Given the description of an element on the screen output the (x, y) to click on. 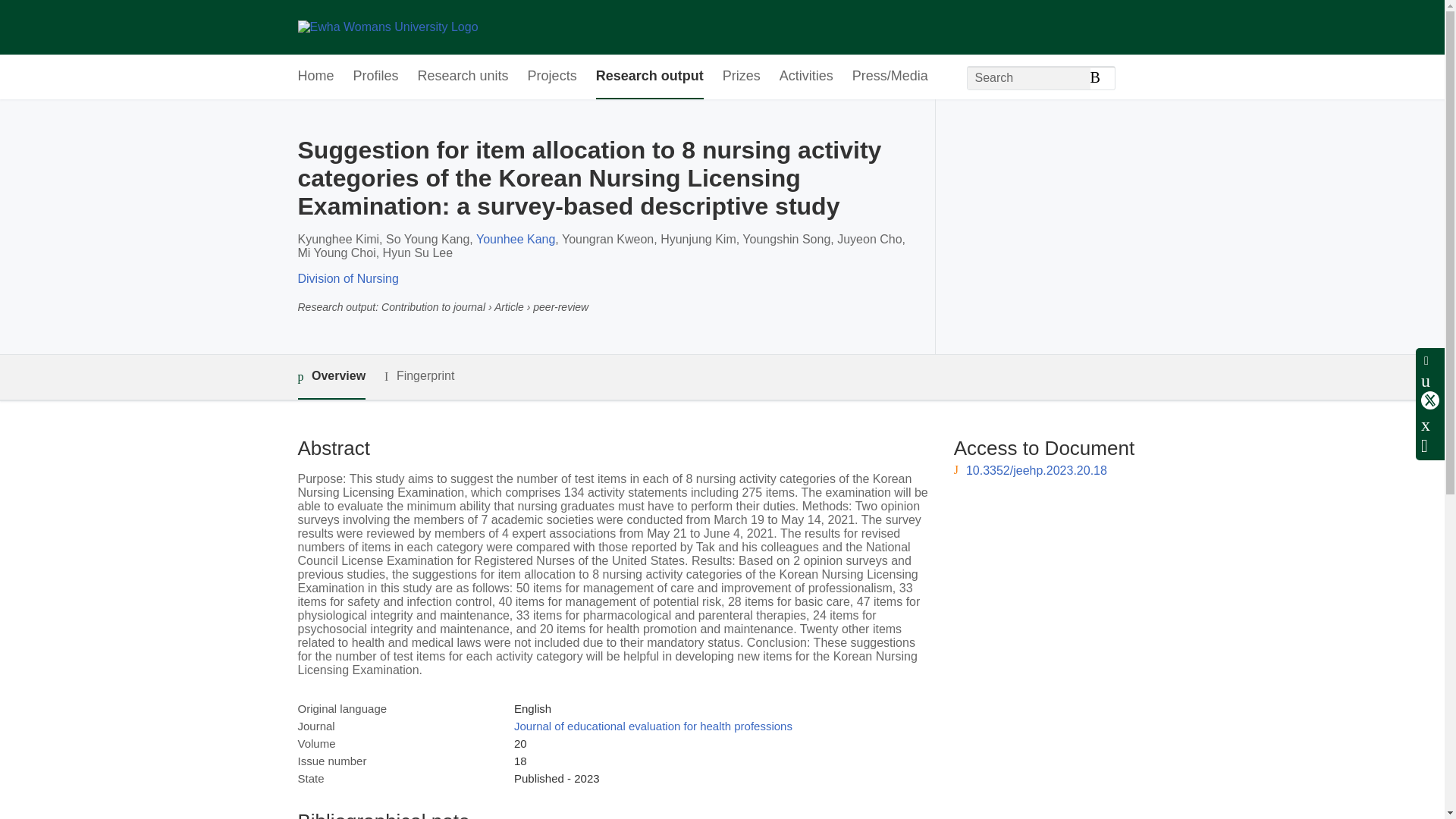
Ewha Womans University Home (387, 27)
Fingerprint (419, 376)
Overview (331, 376)
Division of Nursing (347, 278)
Profiles (375, 76)
Projects (551, 76)
Younhee Kang (515, 238)
Journal of educational evaluation for health professions (652, 725)
Activities (805, 76)
Research output (649, 76)
Research units (462, 76)
